Given the description of an element on the screen output the (x, y) to click on. 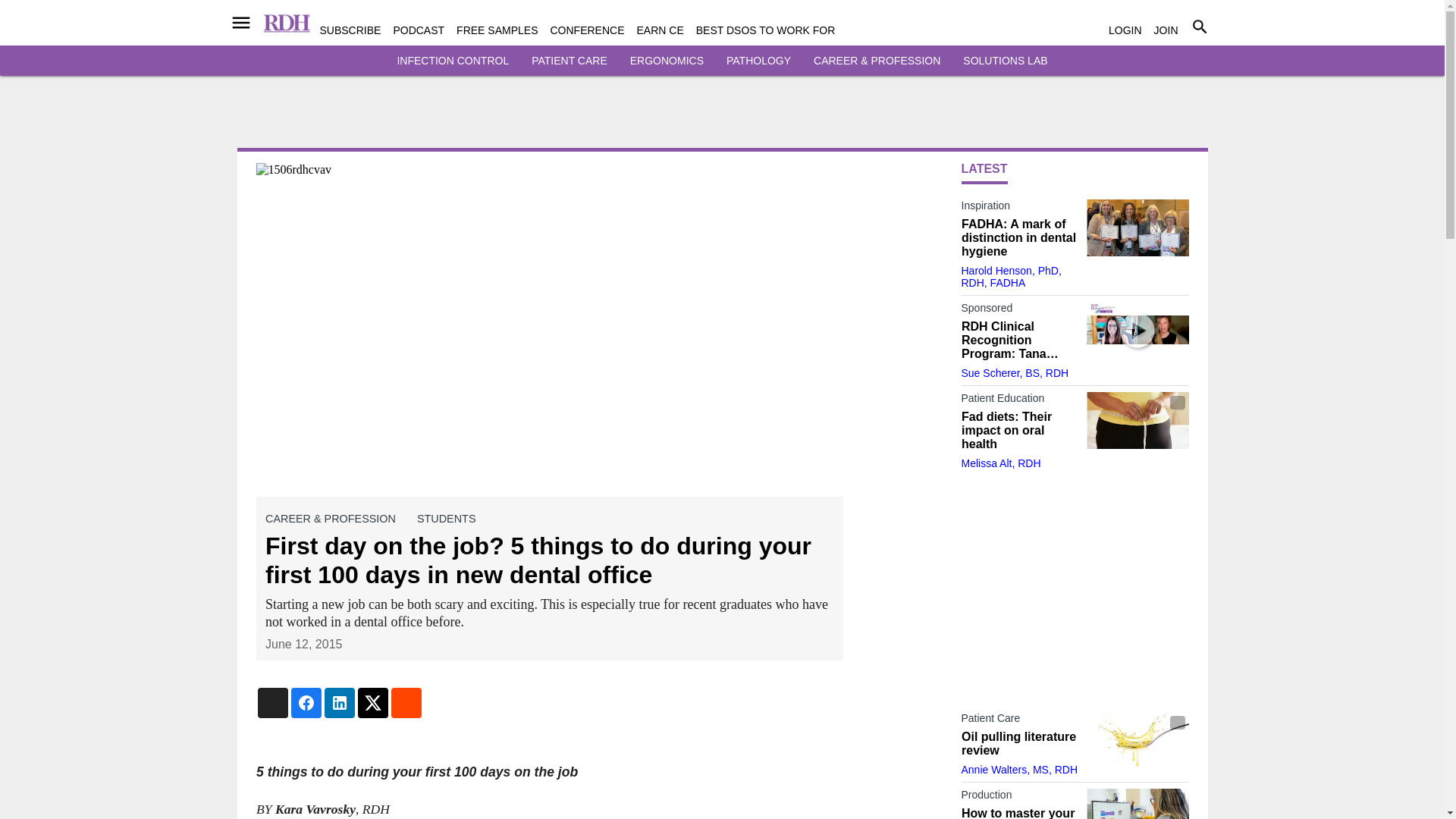
PODCAST (418, 30)
LOGIN (1124, 30)
EARN CE (660, 30)
JOIN (1165, 30)
SOLUTIONS LAB (1004, 60)
oil pulling in dentistry (1137, 740)
ERGONOMICS (666, 60)
PATHOLOGY (758, 60)
SUBSCRIBE (350, 30)
CONFERENCE (587, 30)
INFECTION CONTROL (452, 60)
BEST DSOS TO WORK FOR (765, 30)
PATIENT CARE (569, 60)
RDH Clinical Recognition Program: Tana Spencer (1137, 330)
